Given the description of an element on the screen output the (x, y) to click on. 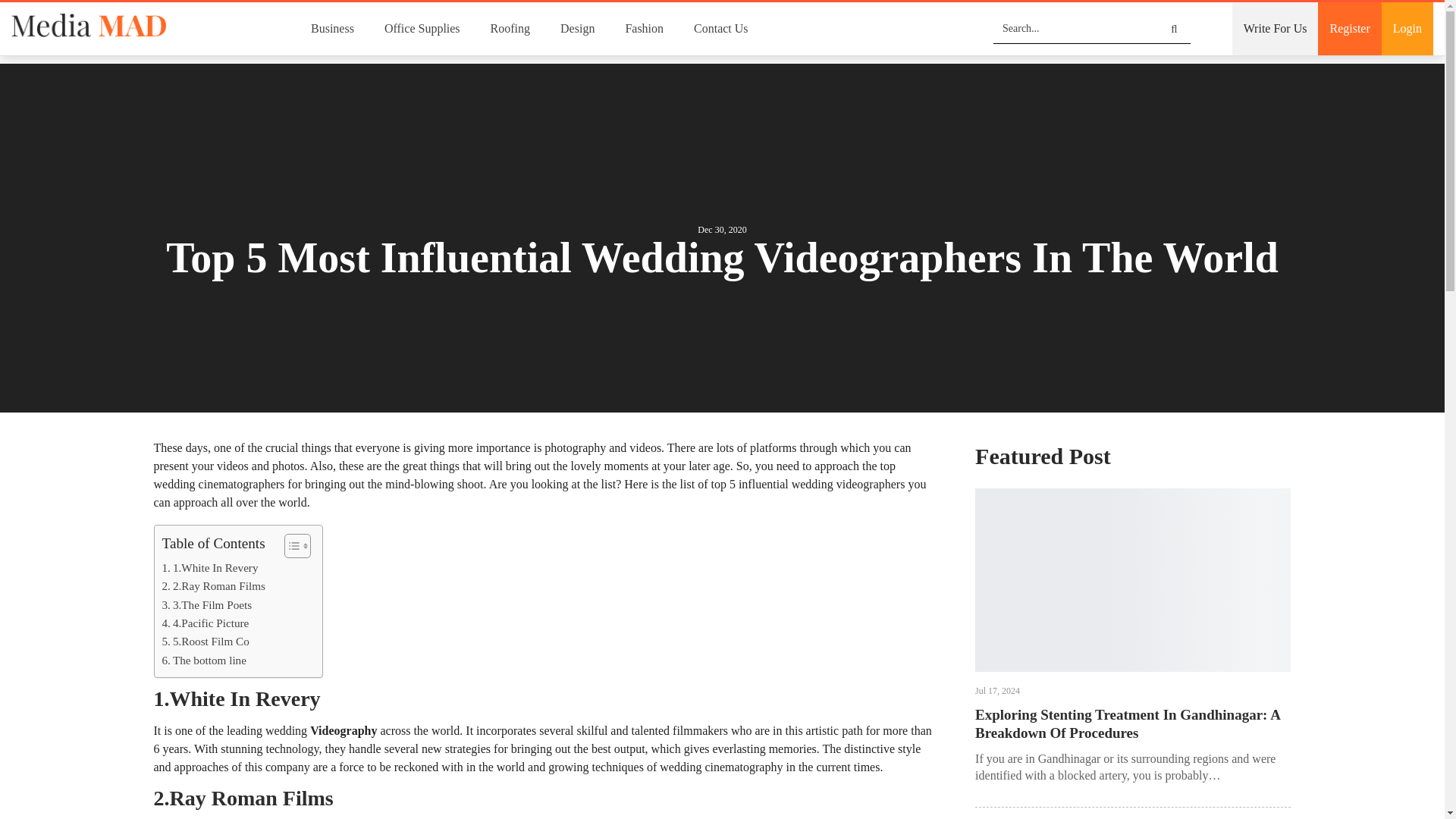
Roofing (510, 28)
Login (1406, 28)
Search for: (1091, 28)
4.Pacific Picture  (206, 623)
Contact Us (720, 28)
Wednesday, December 30, 2020, 7:37 pm (721, 229)
Business (331, 28)
Register (1348, 28)
The bottom line  (204, 660)
Office Supplies (422, 28)
Write For Us (1275, 28)
